Given the description of an element on the screen output the (x, y) to click on. 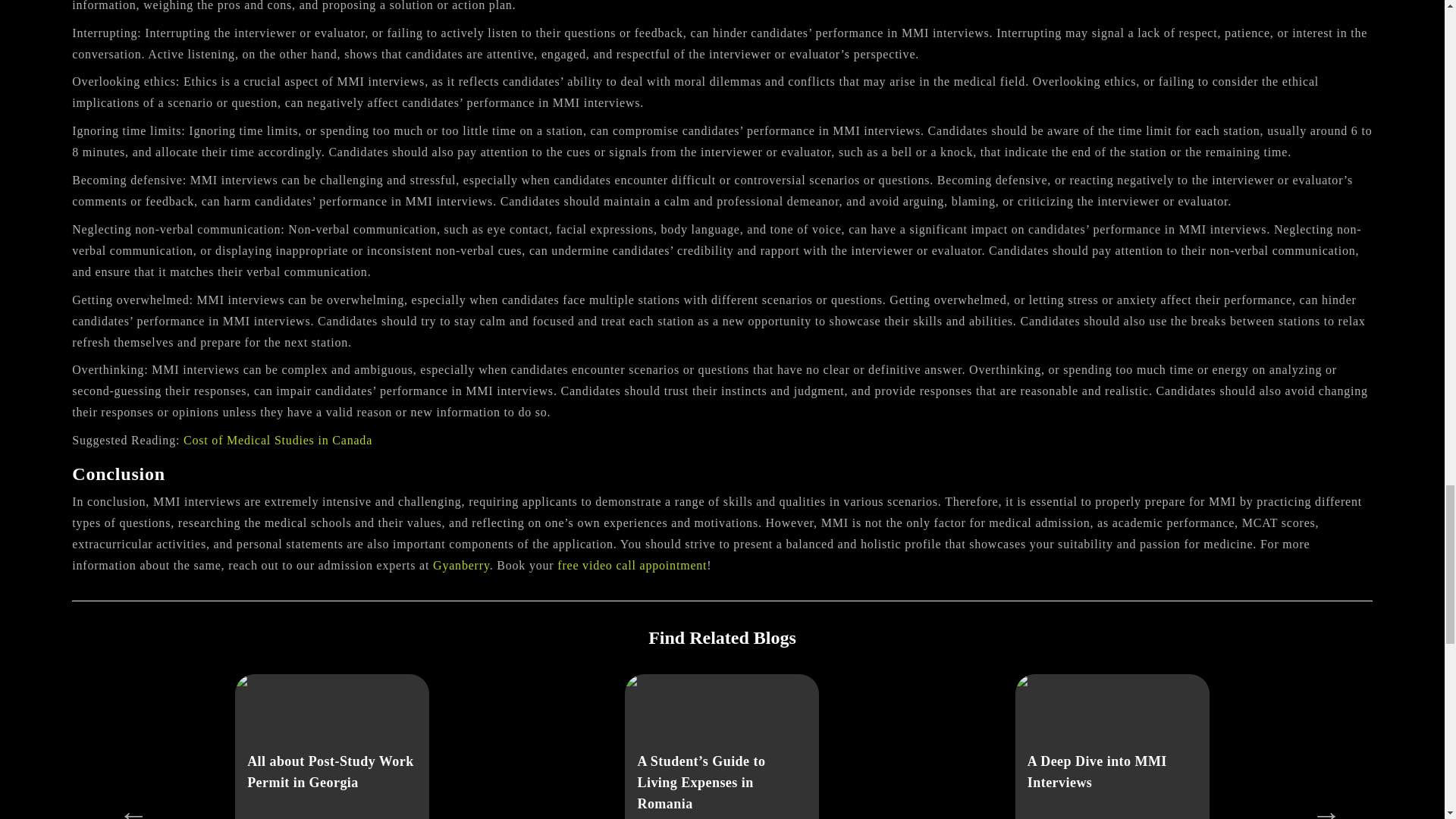
Next (1318, 807)
Gyanberry (460, 564)
Cost of Medical Studies in Canada (277, 440)
free video call appointment (631, 564)
Previous (125, 807)
